Given the description of an element on the screen output the (x, y) to click on. 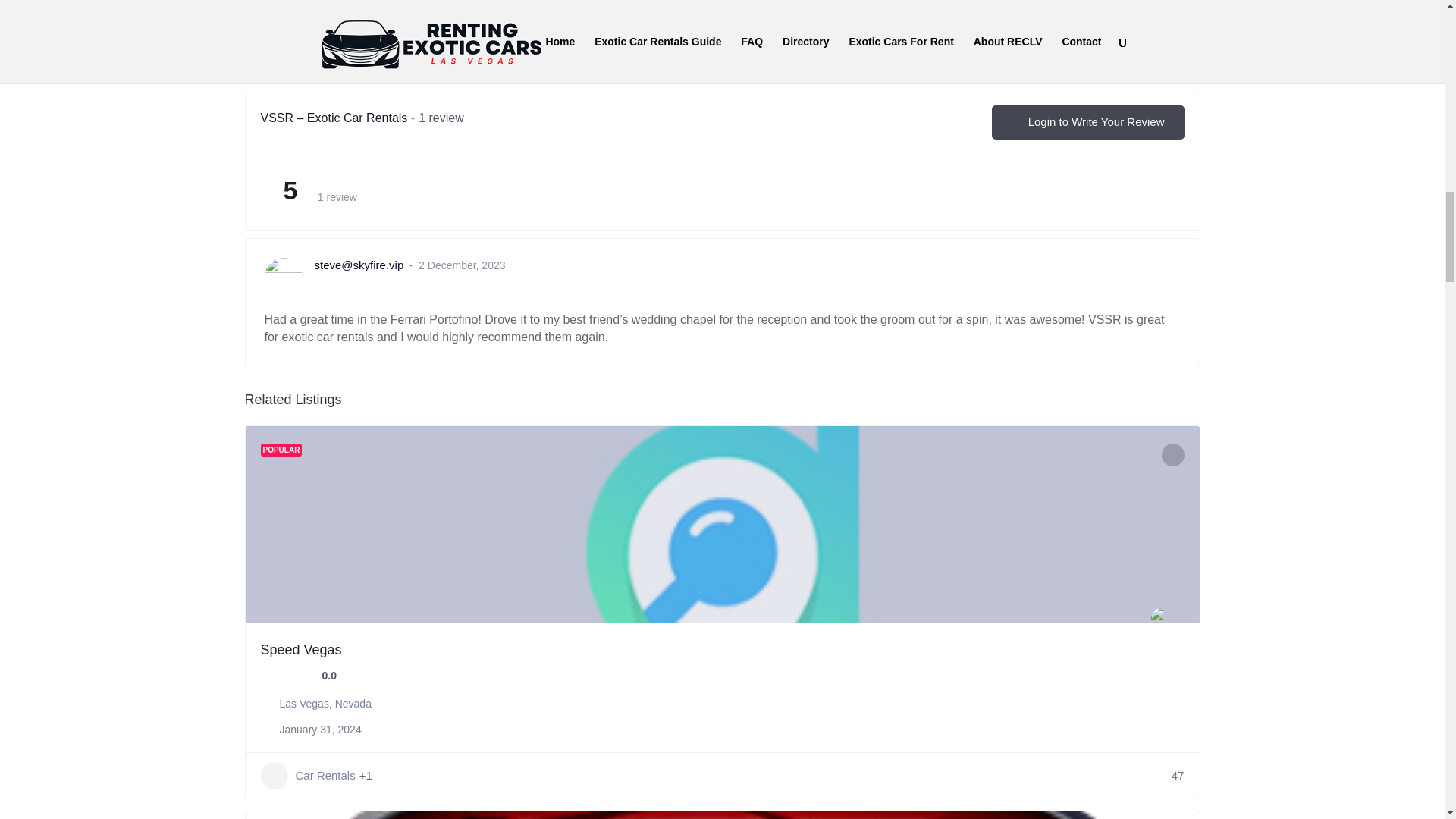
Las Vegas (304, 703)
Speed Vegas (301, 649)
Login to Write Your Review (1088, 122)
Car Rentals (307, 775)
Submit (293, 34)
Nevada (352, 703)
